Given the description of an element on the screen output the (x, y) to click on. 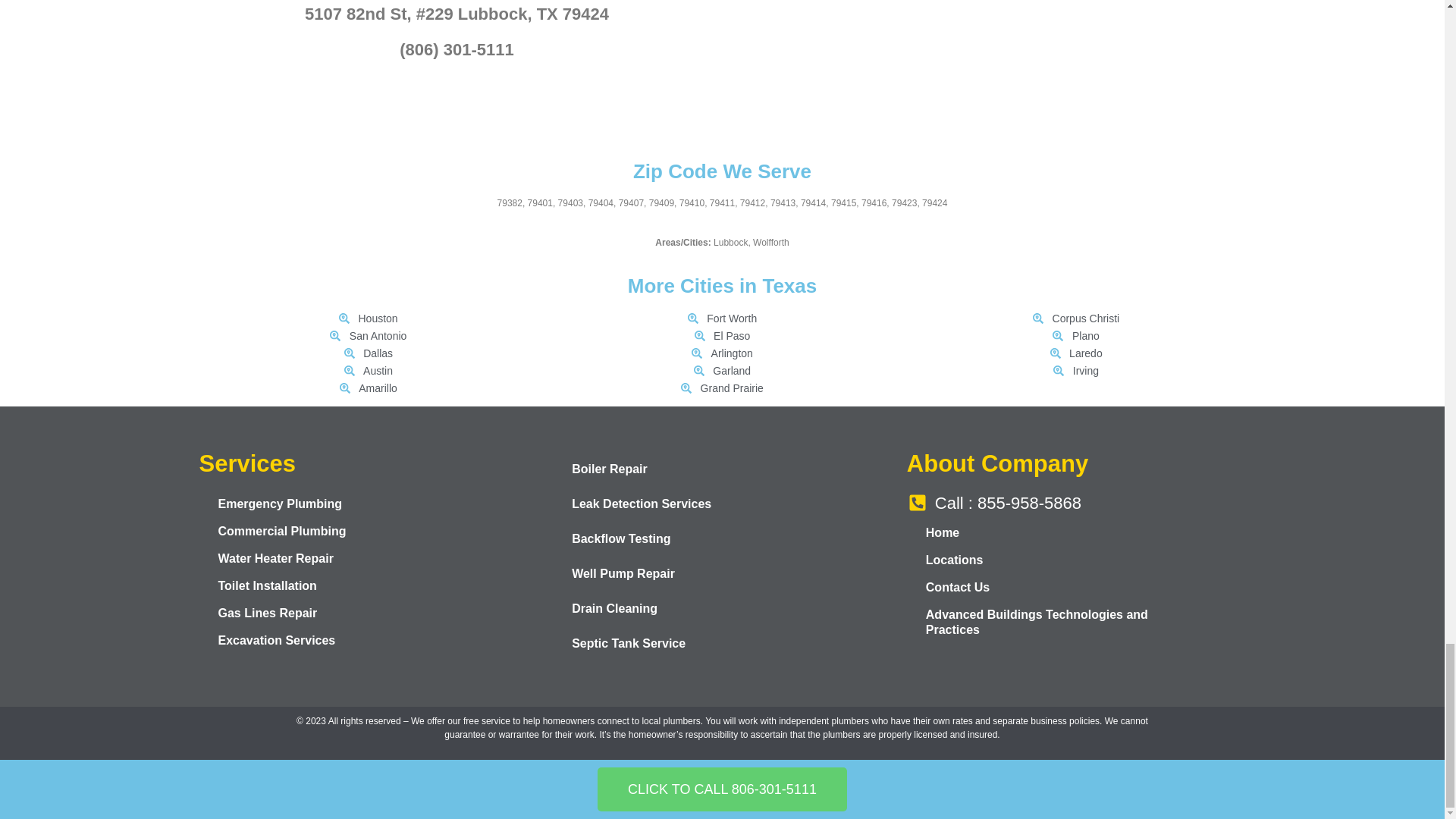
San Antonio (367, 335)
Amarillo (367, 388)
Arlington (722, 353)
El Paso (722, 335)
Garland (722, 371)
Houston (367, 318)
Dallas (367, 353)
Plano (1076, 335)
Grand Prairie (722, 388)
Austin (367, 371)
